Given the description of an element on the screen output the (x, y) to click on. 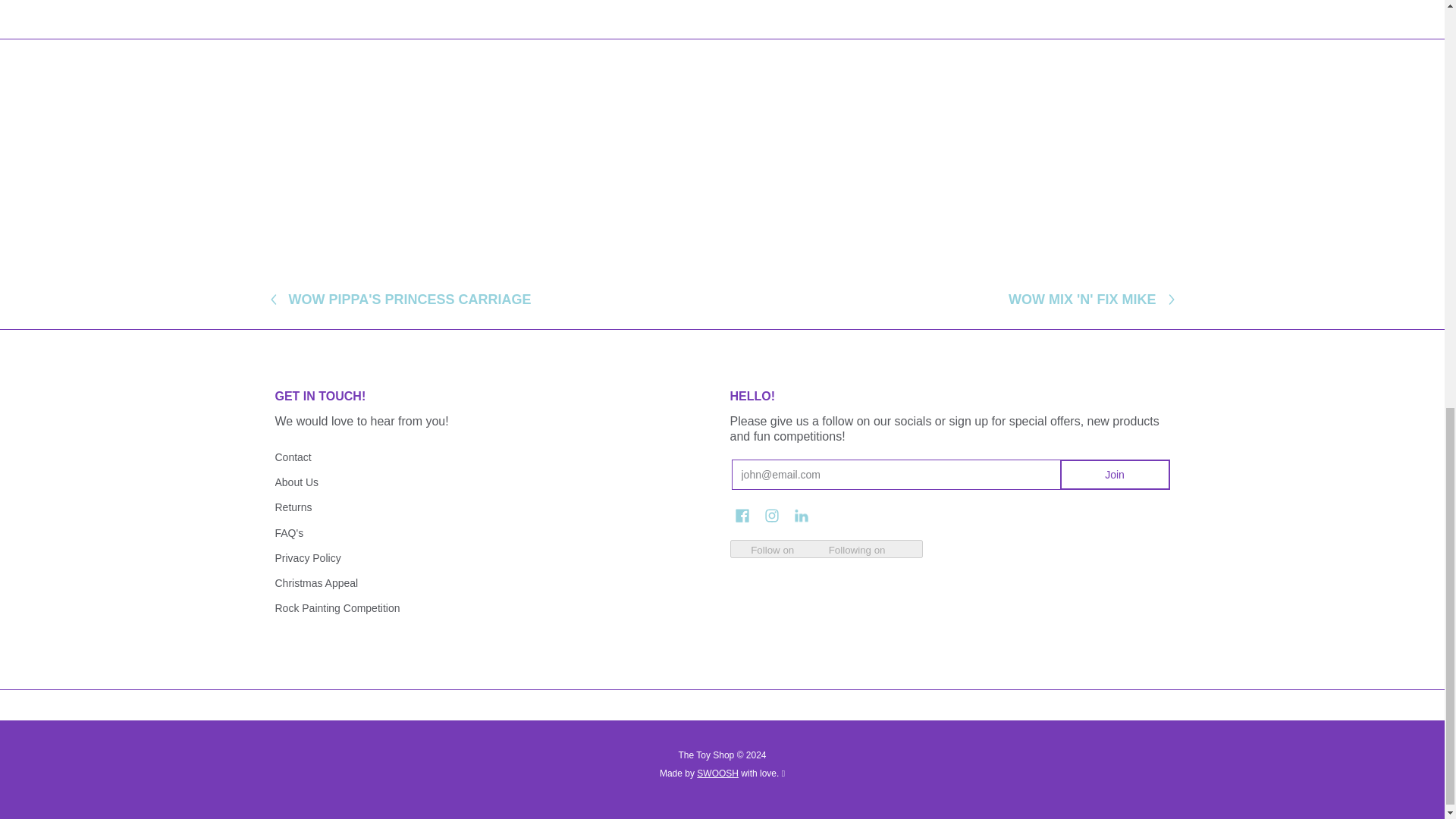
WOW PIPPA'S PRINCESS CARRIAGE (409, 299)
WOW MIX 'N' FIX MIKE (1082, 299)
Returns (494, 507)
Contact (494, 456)
FAQ's (494, 532)
About Us (494, 481)
